Given the description of an element on the screen output the (x, y) to click on. 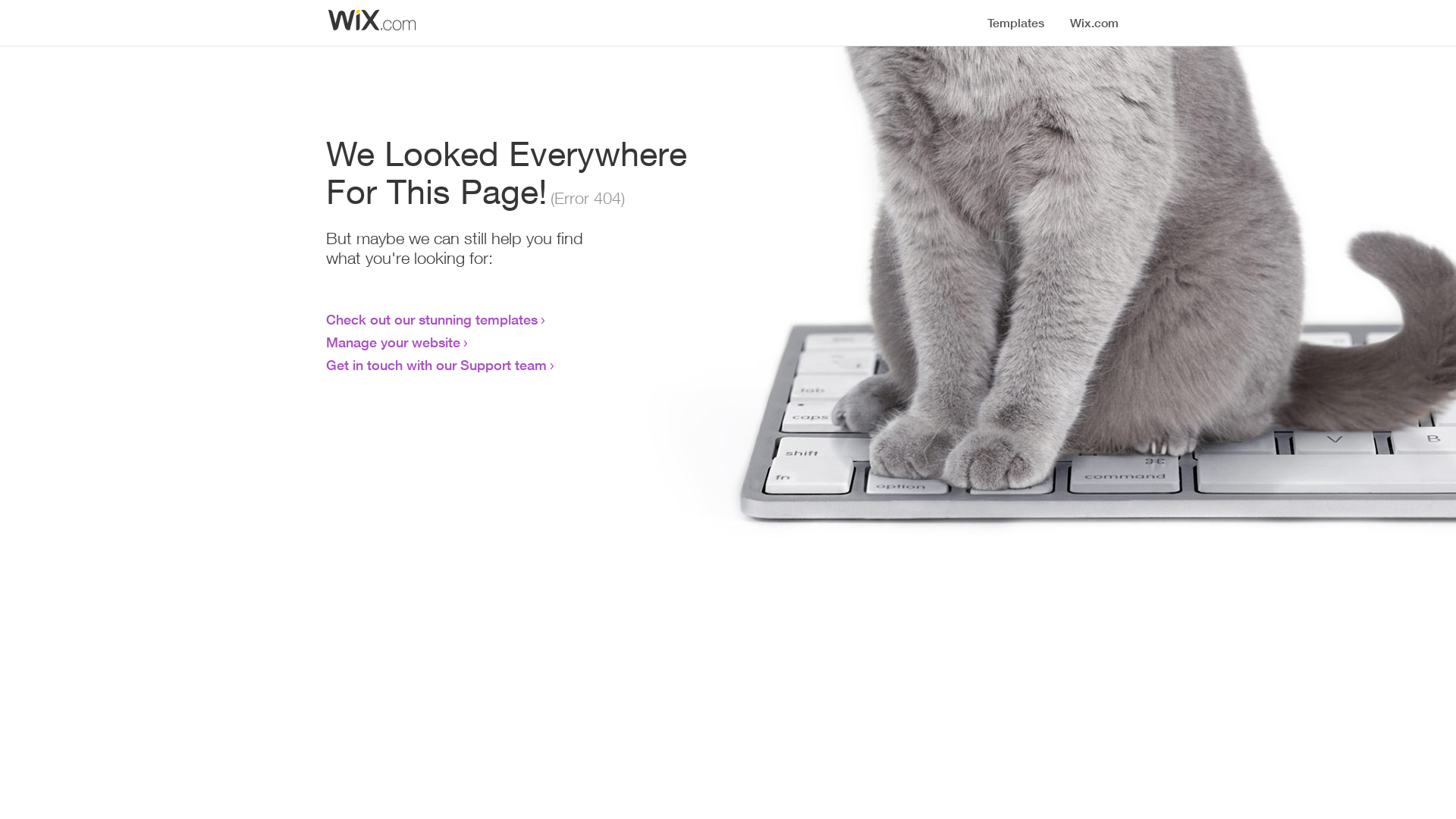
Manage your website Element type: text (393, 341)
Get in touch with our Support team Element type: text (436, 364)
Check out our stunning templates Element type: text (431, 318)
